Given the description of an element on the screen output the (x, y) to click on. 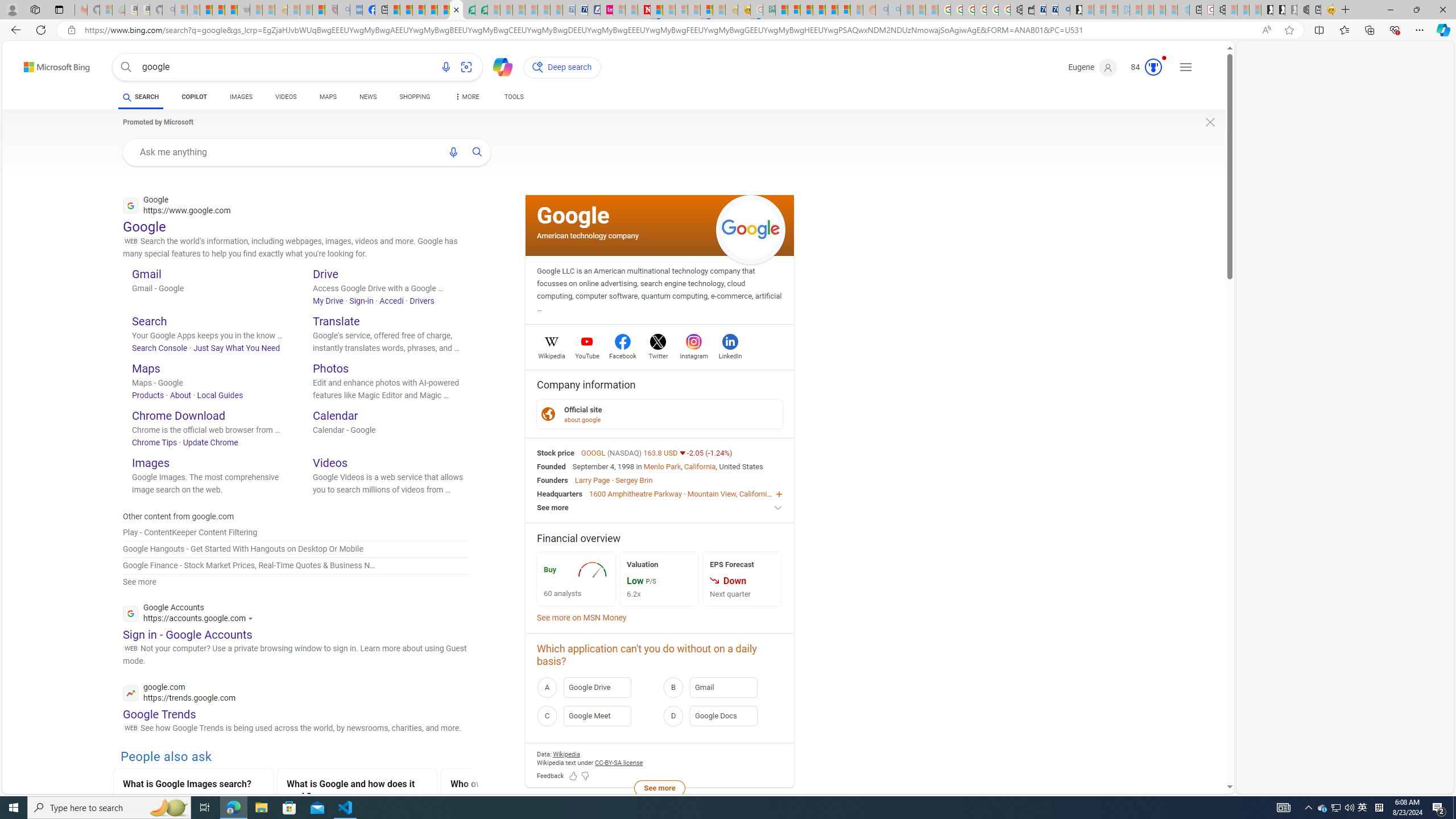
Who owns Google? (520, 784)
Wallet (1028, 9)
Terms of Use Agreement (468, 9)
Official siteabout.google (660, 414)
EPS Forecast Down Next quarter (742, 579)
Dropdown Menu (465, 96)
Google Accounts (190, 613)
Animation (1163, 57)
